Given the description of an element on the screen output the (x, y) to click on. 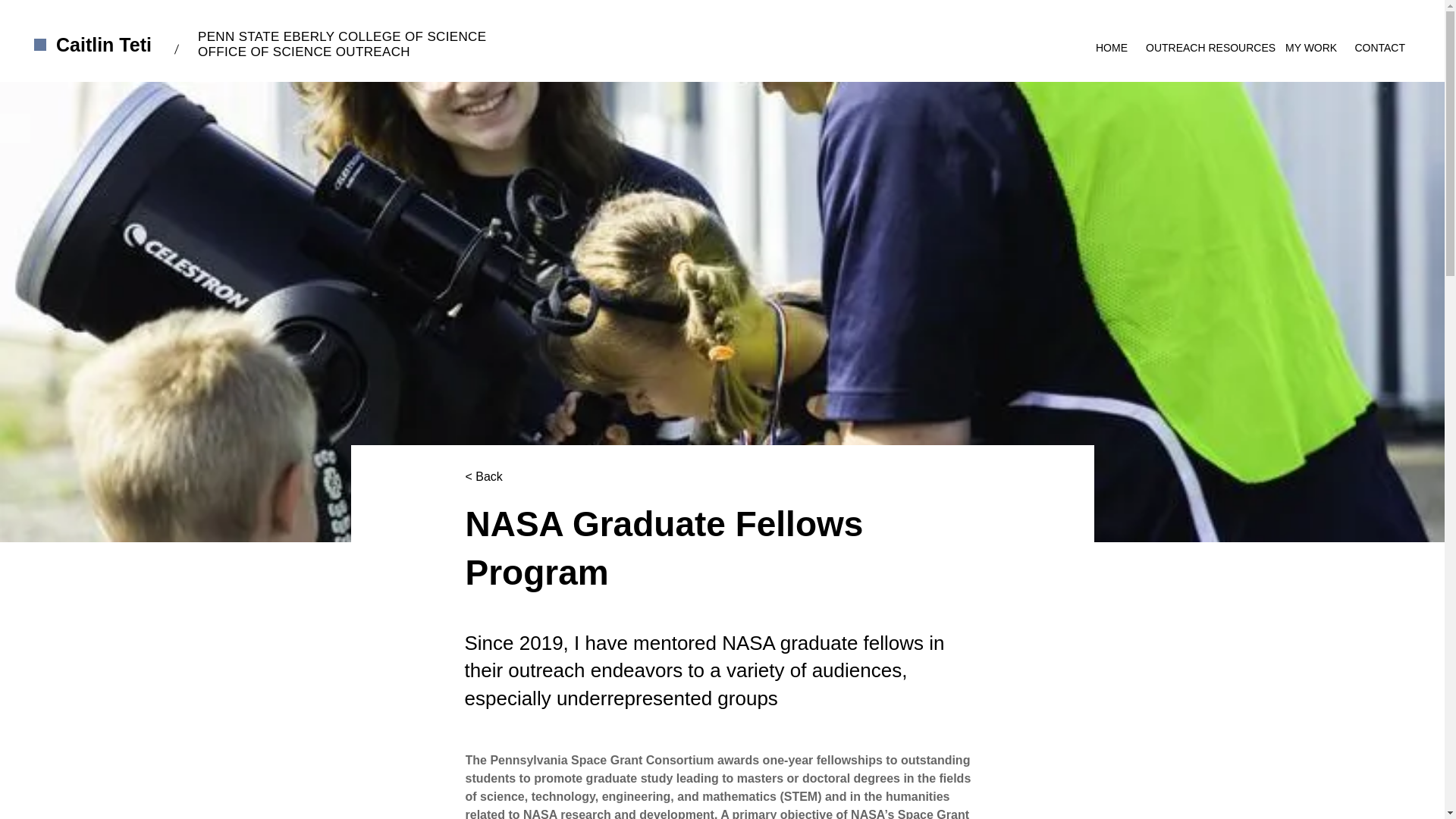
OUTREACH RESOURCES (1206, 40)
CONTACT (1378, 40)
HOME (1111, 40)
Caitlin Teti (103, 44)
